Given the description of an element on the screen output the (x, y) to click on. 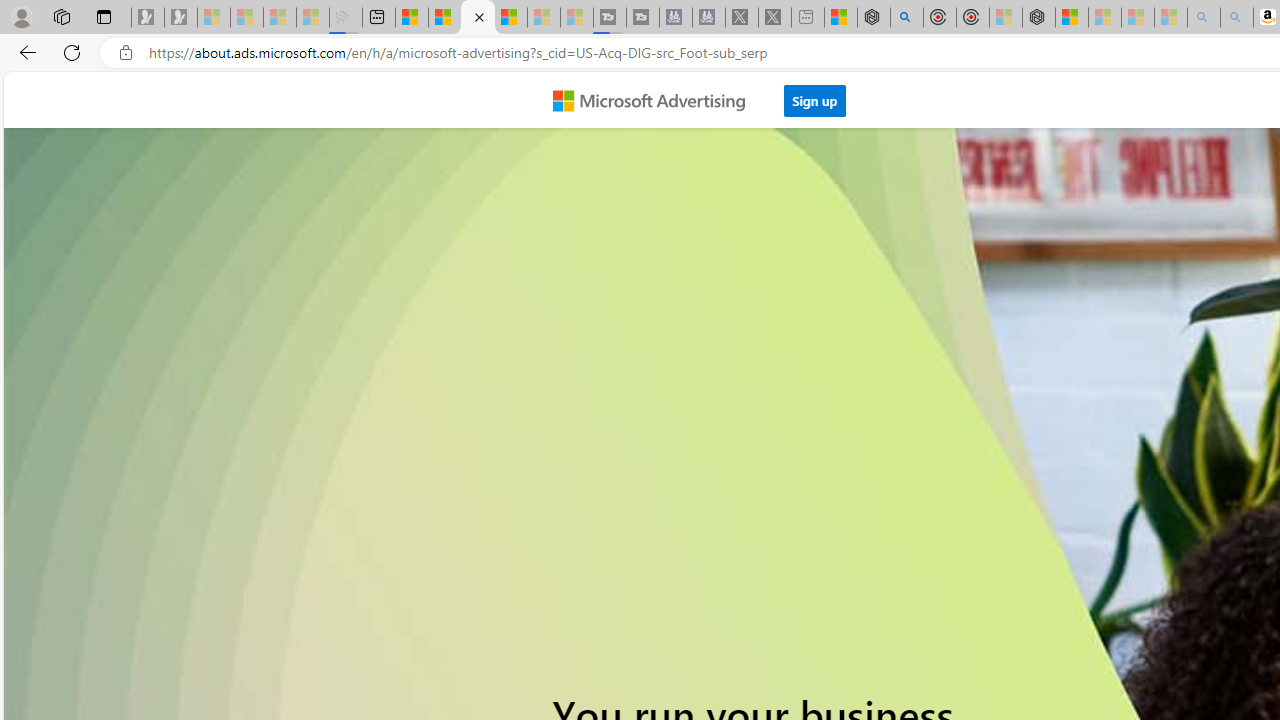
Microsoft Advertising (656, 99)
Sign up (815, 95)
Newsletter Sign Up - Sleeping (181, 17)
